Given the description of an element on the screen output the (x, y) to click on. 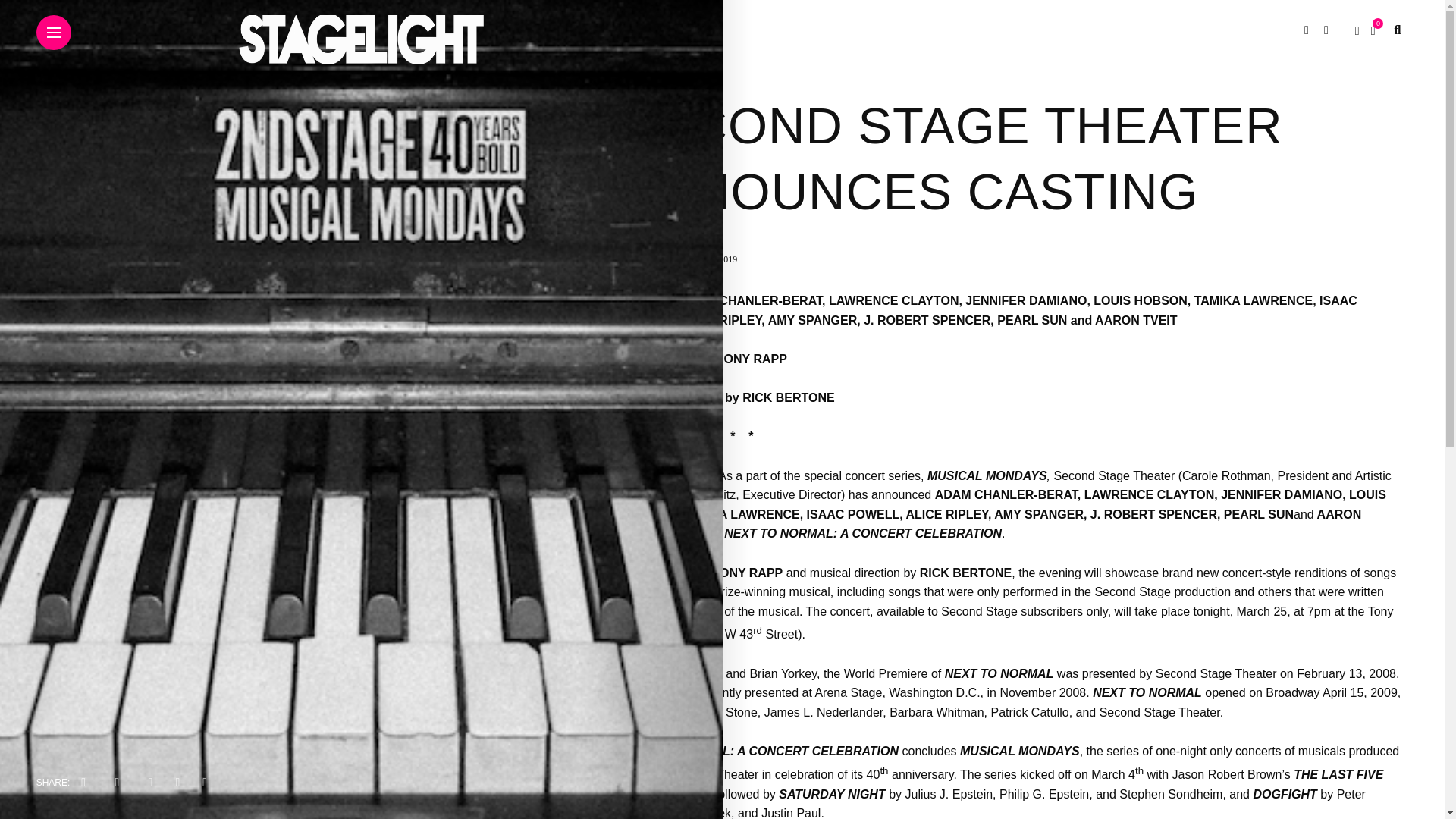
PRESS RELEASES (665, 75)
StageLight (644, 258)
Posts by StageLight (644, 258)
